Given the description of an element on the screen output the (x, y) to click on. 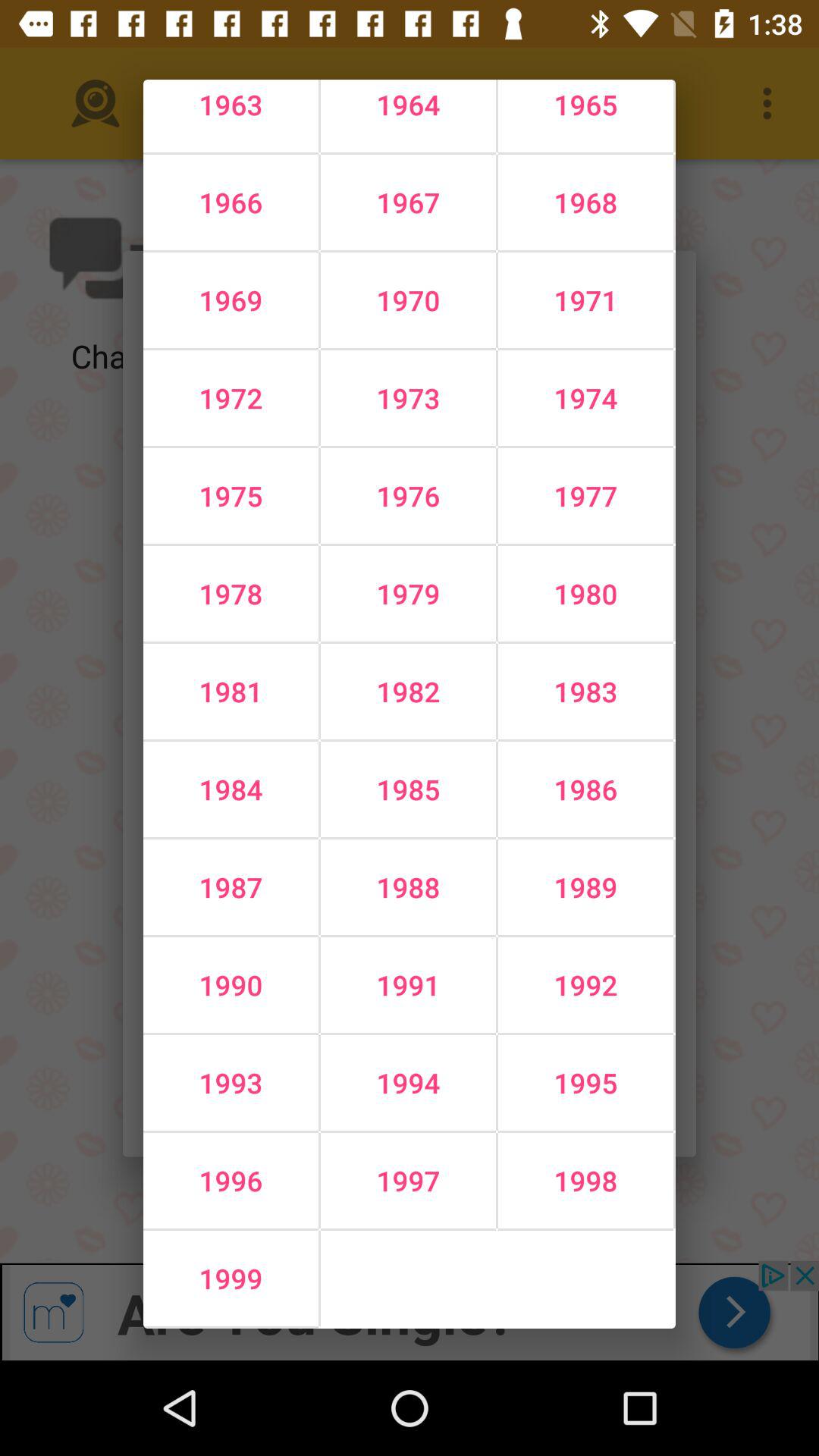
choose icon to the right of the 1982 item (585, 789)
